Given the description of an element on the screen output the (x, y) to click on. 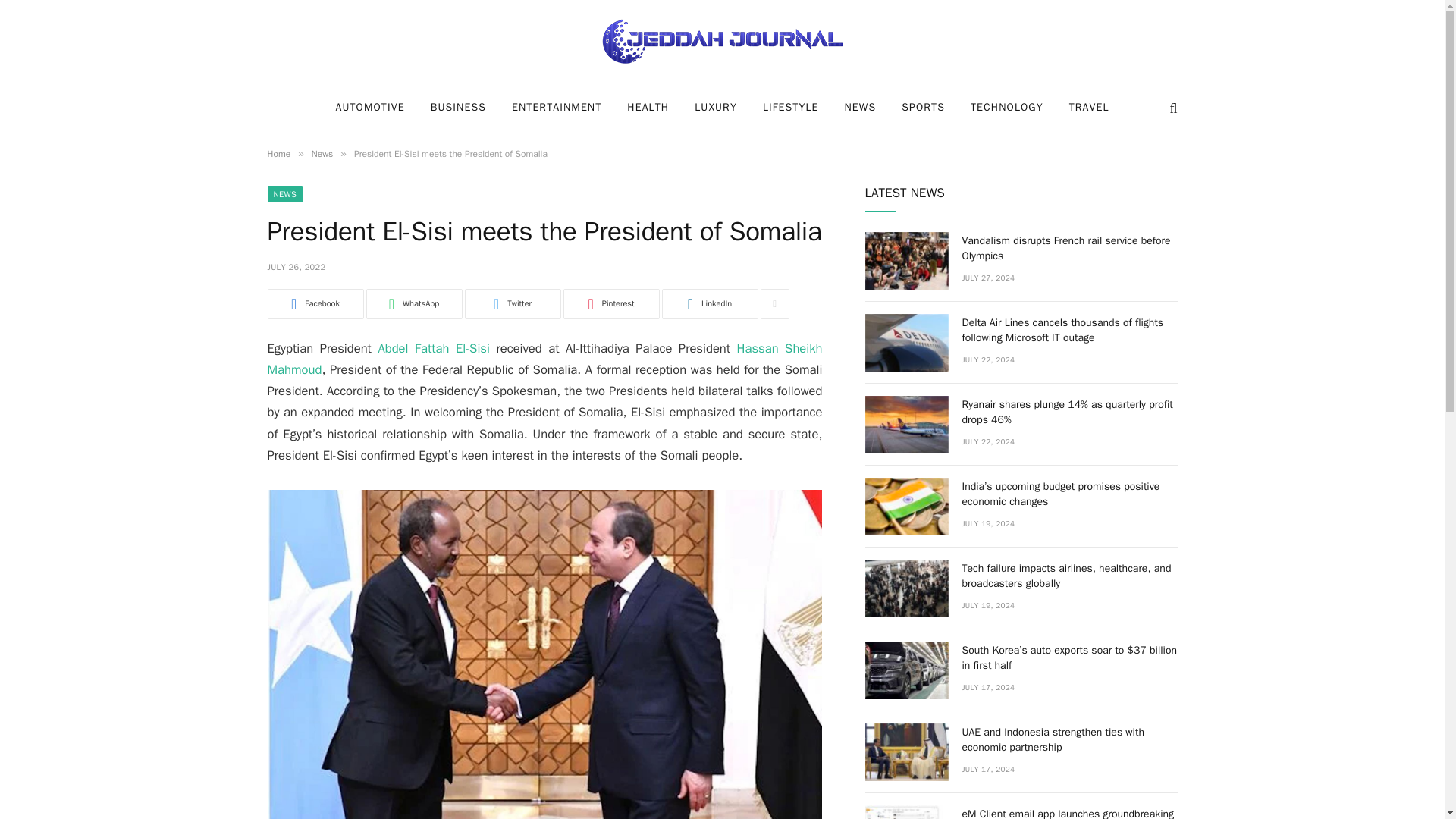
TRAVEL (1089, 107)
TECHNOLOGY (1007, 107)
Share on WhatsApp (413, 304)
BUSINESS (458, 107)
Share on Pinterest (610, 304)
NEWS (859, 107)
LIFESTYLE (790, 107)
Share on LinkedIn (709, 304)
ENTERTAINMENT (556, 107)
Twitter (512, 304)
Facebook (314, 304)
Share on Facebook (314, 304)
WhatsApp (413, 304)
LUXURY (715, 107)
SPORTS (923, 107)
